Given the description of an element on the screen output the (x, y) to click on. 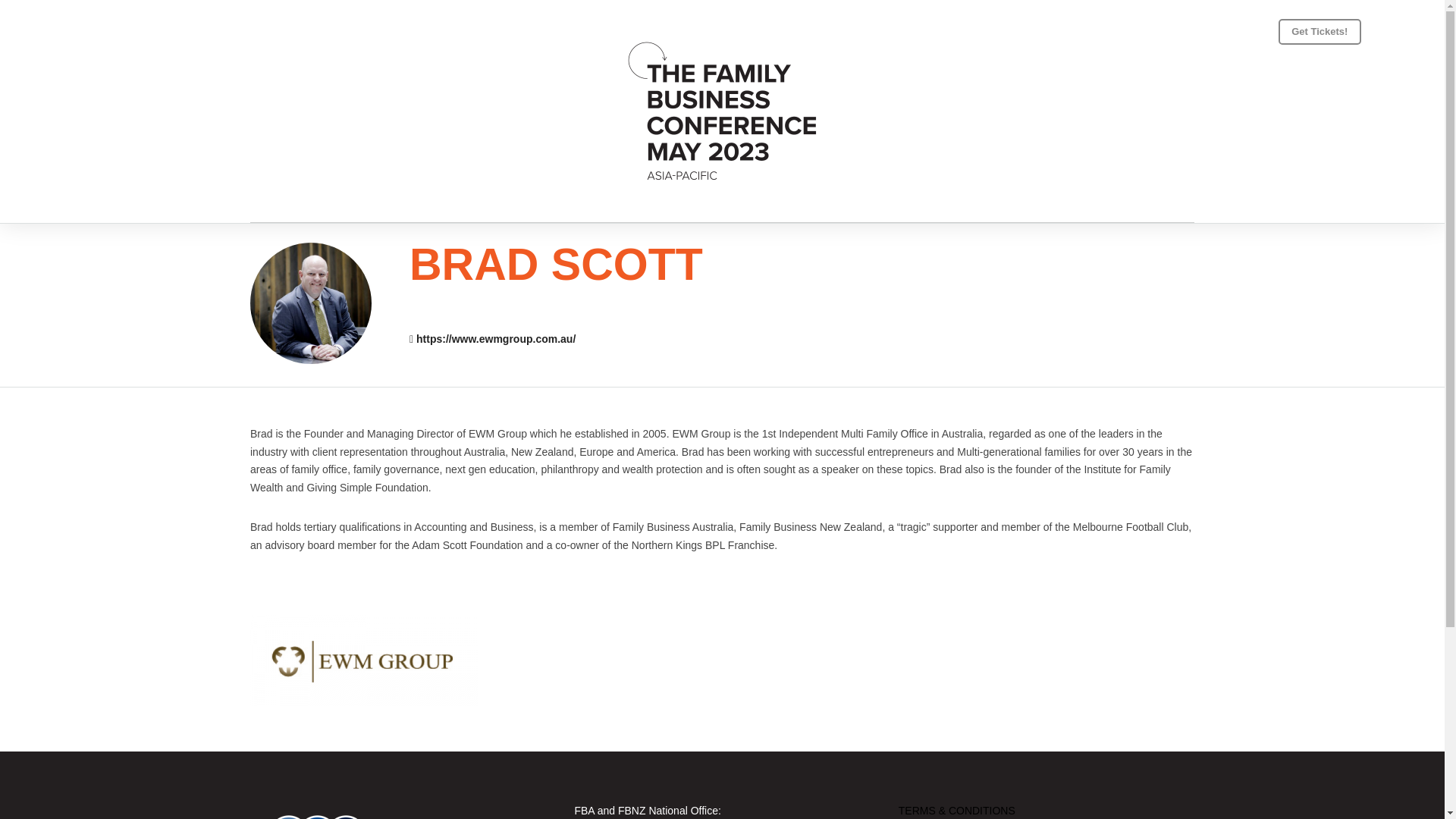
Get Tickets! (1319, 31)
